Given the description of an element on the screen output the (x, y) to click on. 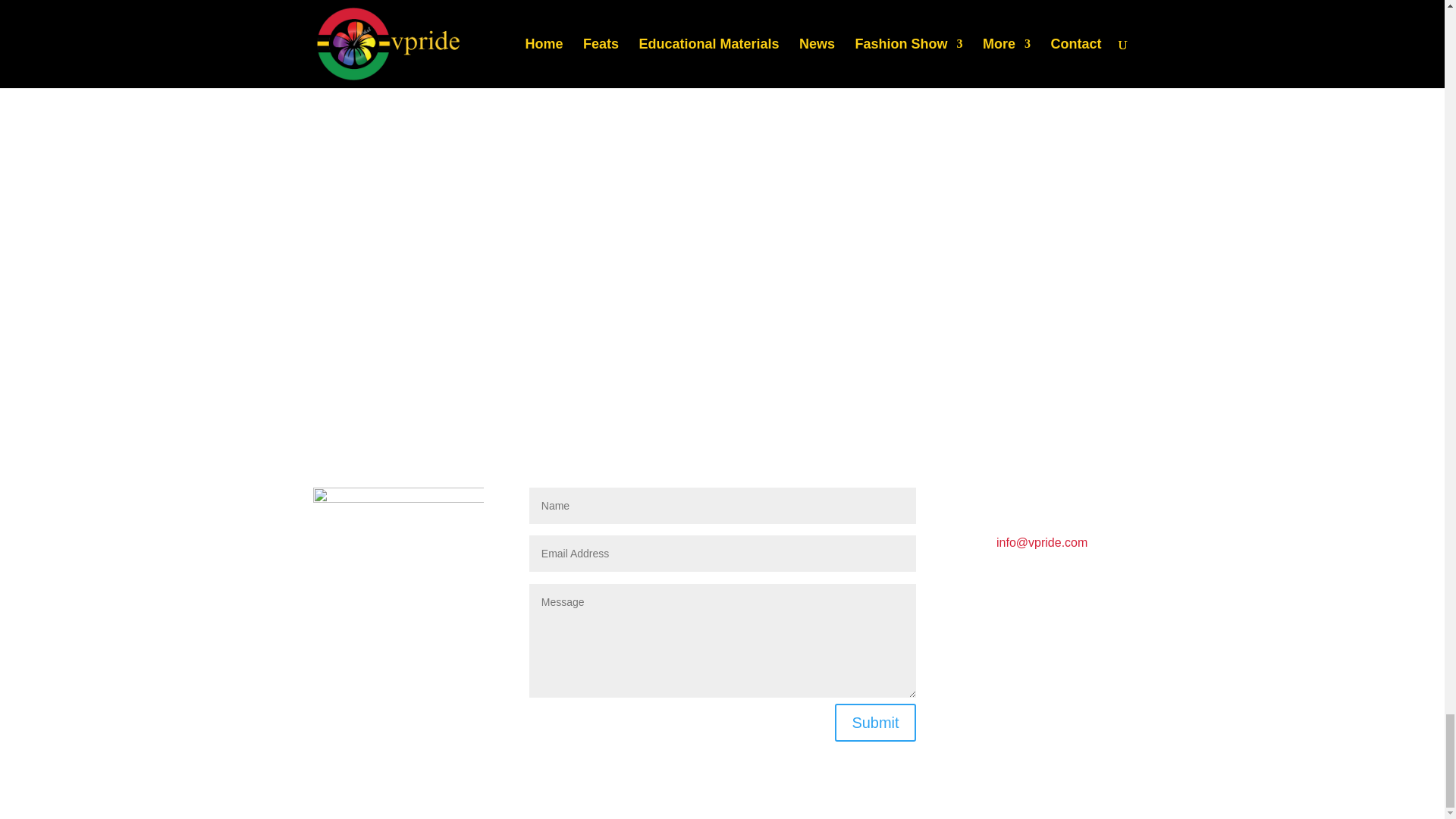
Submit (874, 722)
Follow on Facebook (972, 739)
